Given the description of an element on the screen output the (x, y) to click on. 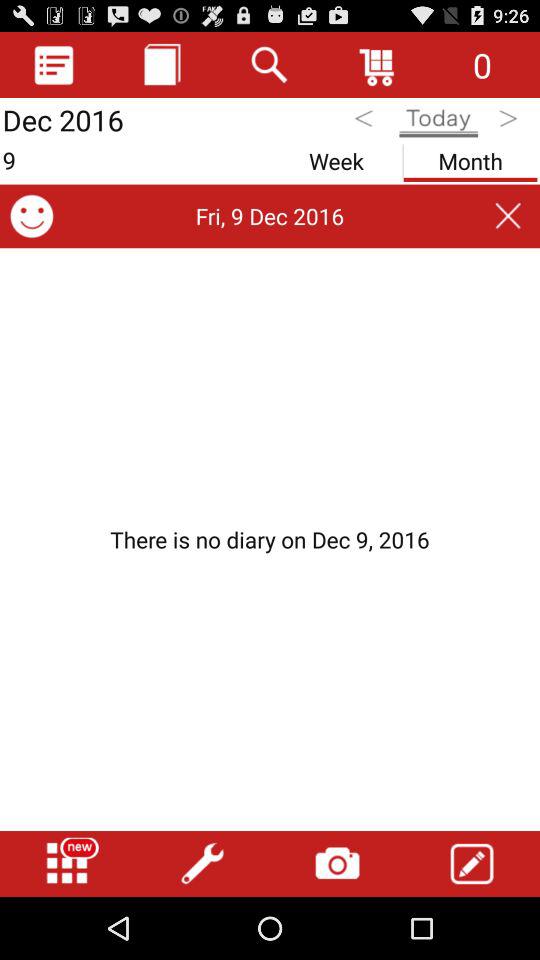
click for new option (67, 863)
